Given the description of an element on the screen output the (x, y) to click on. 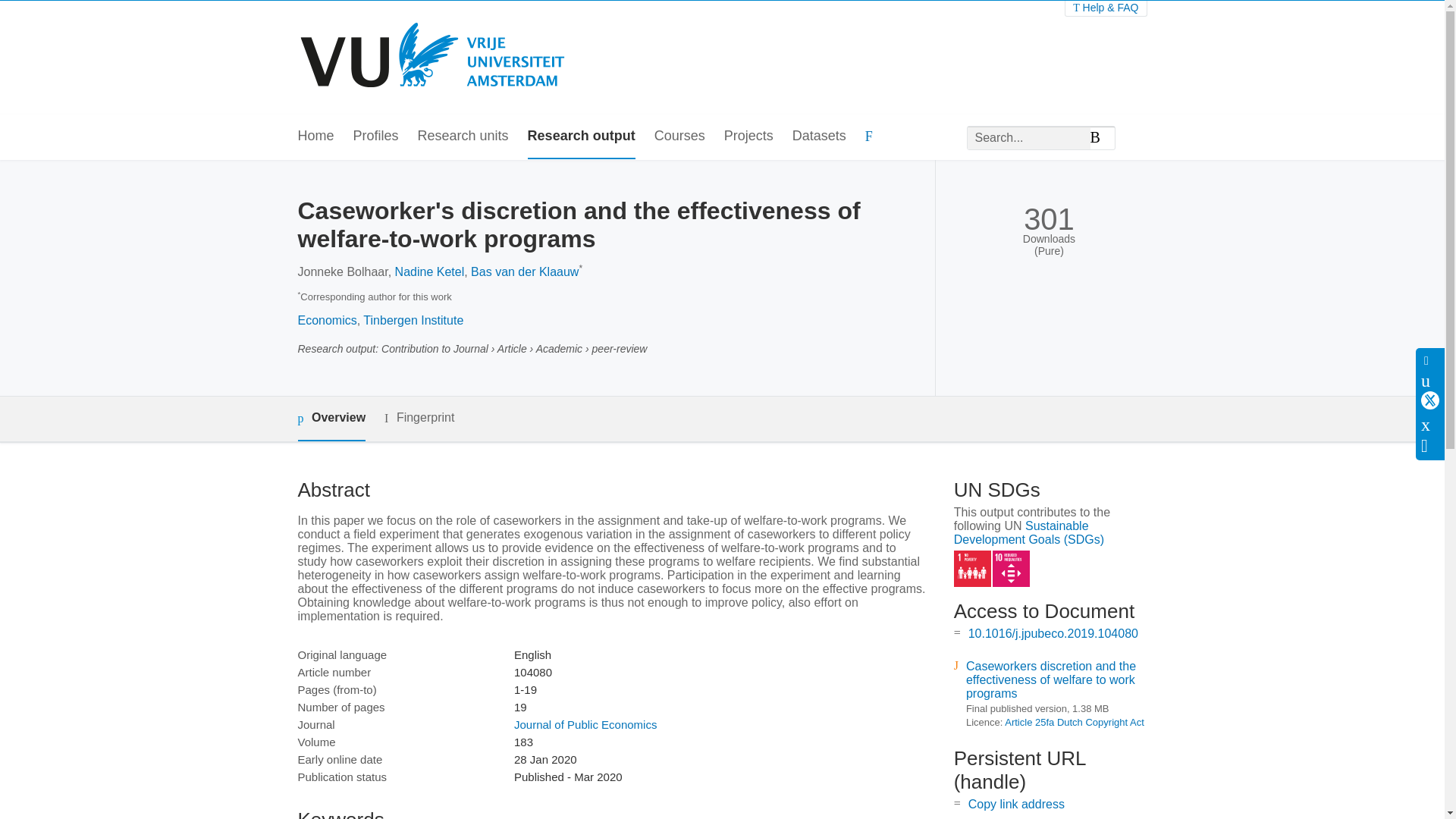
Nadine Ketel (429, 271)
Bas van der Klaauw (524, 271)
Research output (580, 136)
SDG 10 - Reduced Inequalities (1010, 569)
Journal of Public Economics (584, 724)
Overview (331, 418)
Datasets (818, 136)
Economics (326, 319)
Fingerprint (419, 417)
